Given the description of an element on the screen output the (x, y) to click on. 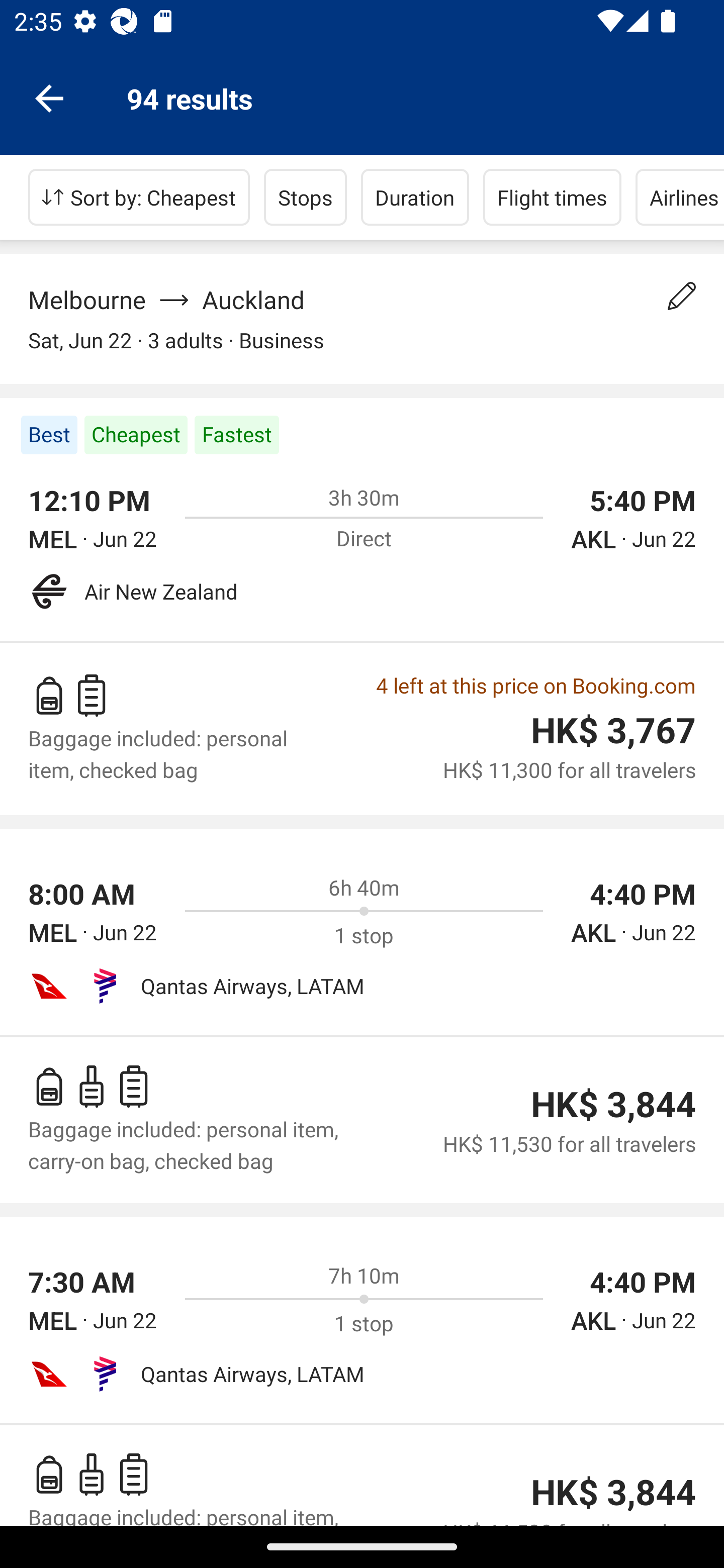
Navigate up (49, 97)
Sort by: Cheapest (138, 197)
Stops (305, 197)
Duration (415, 197)
Flight times (551, 197)
Airlines (679, 197)
Change your search details (681, 296)
HK$ 3,767 (612, 730)
HK$ 3,844 (612, 1104)
HK$ 3,844 (612, 1492)
